Given the description of an element on the screen output the (x, y) to click on. 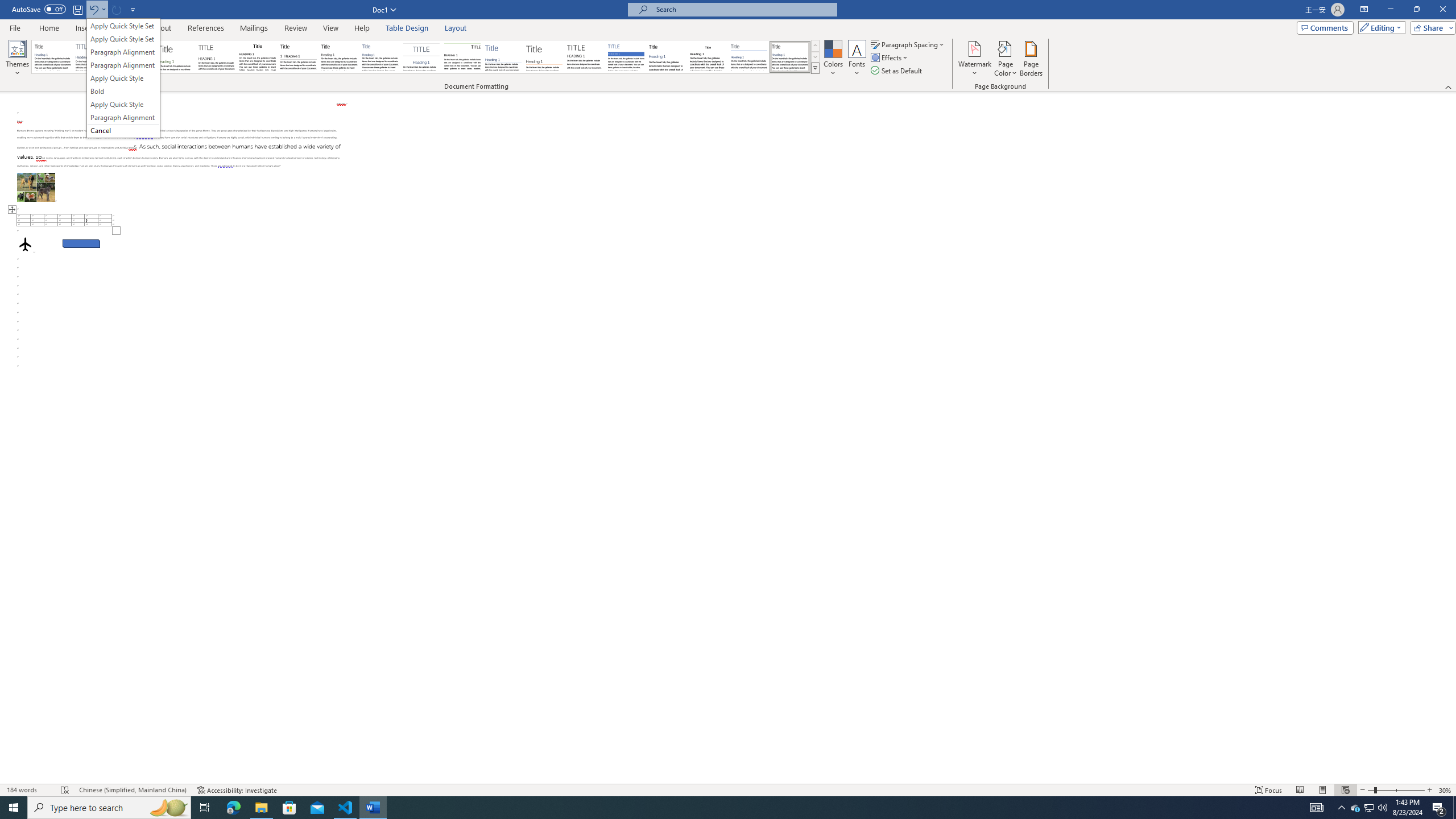
Word 2010 (749, 56)
Centered (421, 56)
Effects (890, 56)
Undo Apply Quick Style Set (96, 9)
Undo Apply Quick Style Set (92, 9)
Page Color (1005, 58)
